Given the description of an element on the screen output the (x, y) to click on. 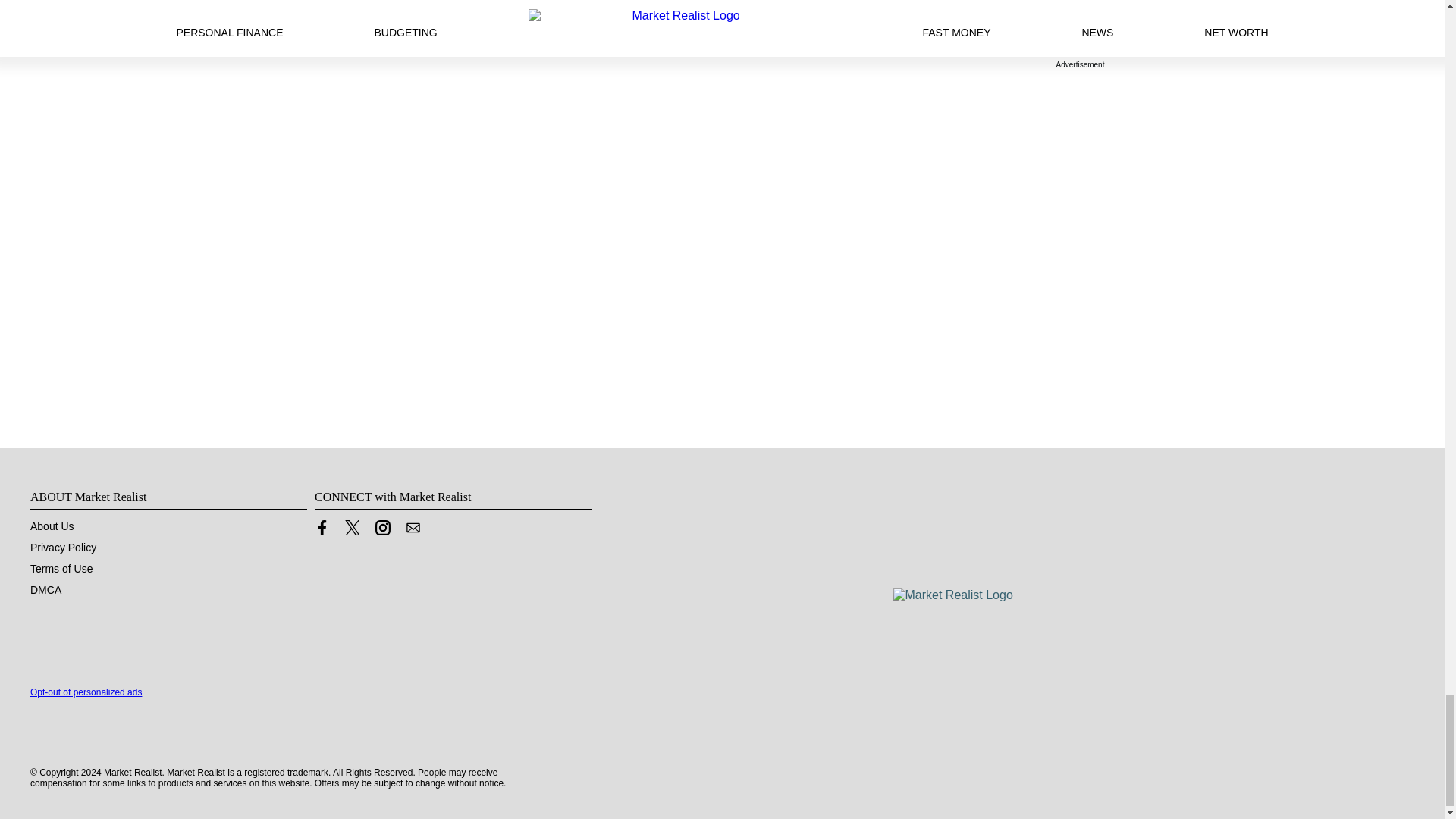
About Us (52, 526)
Privacy Policy (63, 547)
Terms of Use (61, 568)
Privacy Policy (63, 547)
Link to Facebook (322, 531)
Link to Facebook (322, 527)
Terms of Use (61, 568)
DMCA (45, 589)
Link to X (352, 531)
DMCA (45, 589)
